Given the description of an element on the screen output the (x, y) to click on. 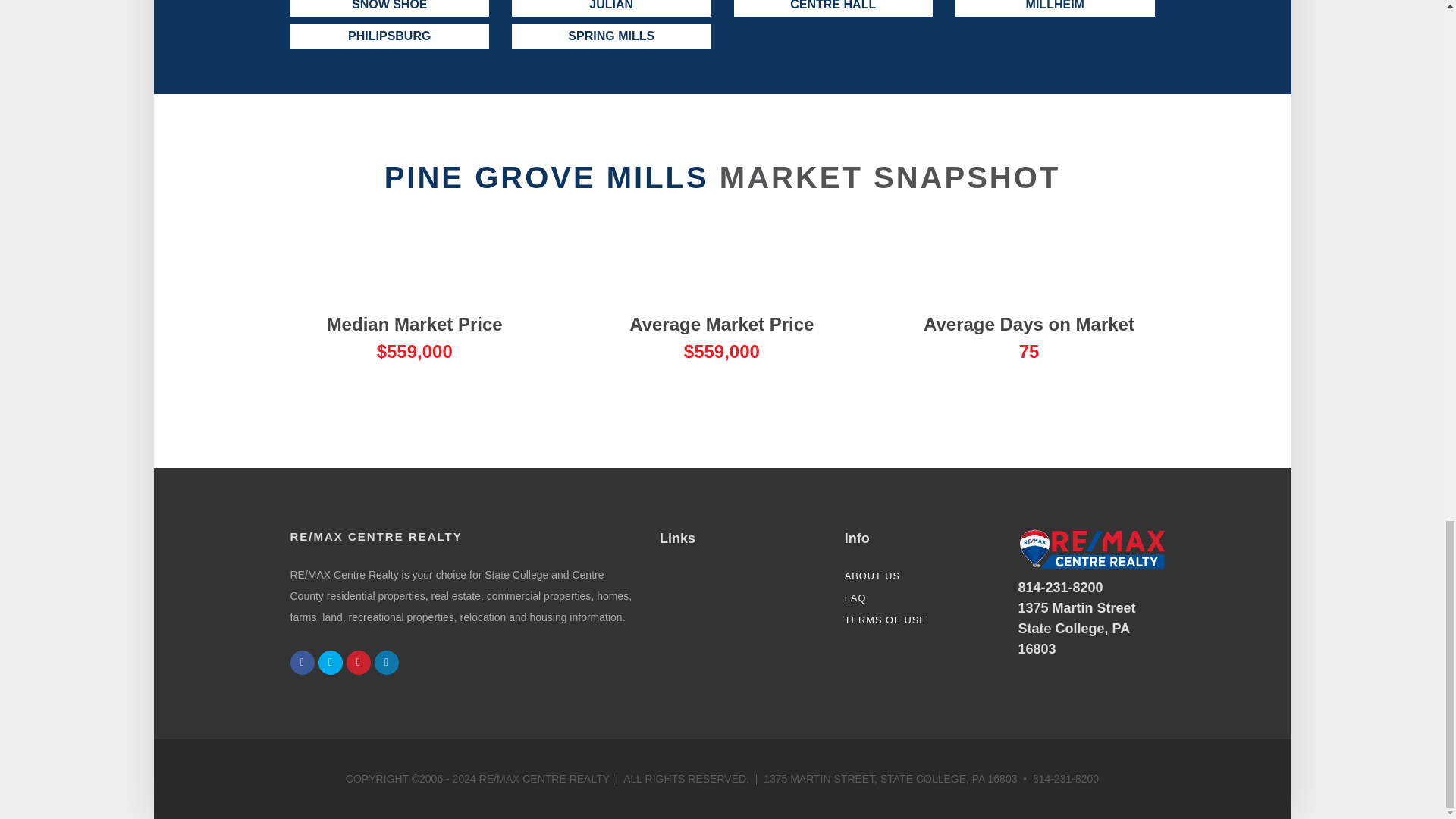
MILLHEIM (1054, 8)
SPRING MILLS (611, 36)
JULIAN (611, 8)
CENTRE HALL (833, 8)
PHILIPSBURG (389, 36)
SNOW SHOE (389, 8)
